Given the description of an element on the screen output the (x, y) to click on. 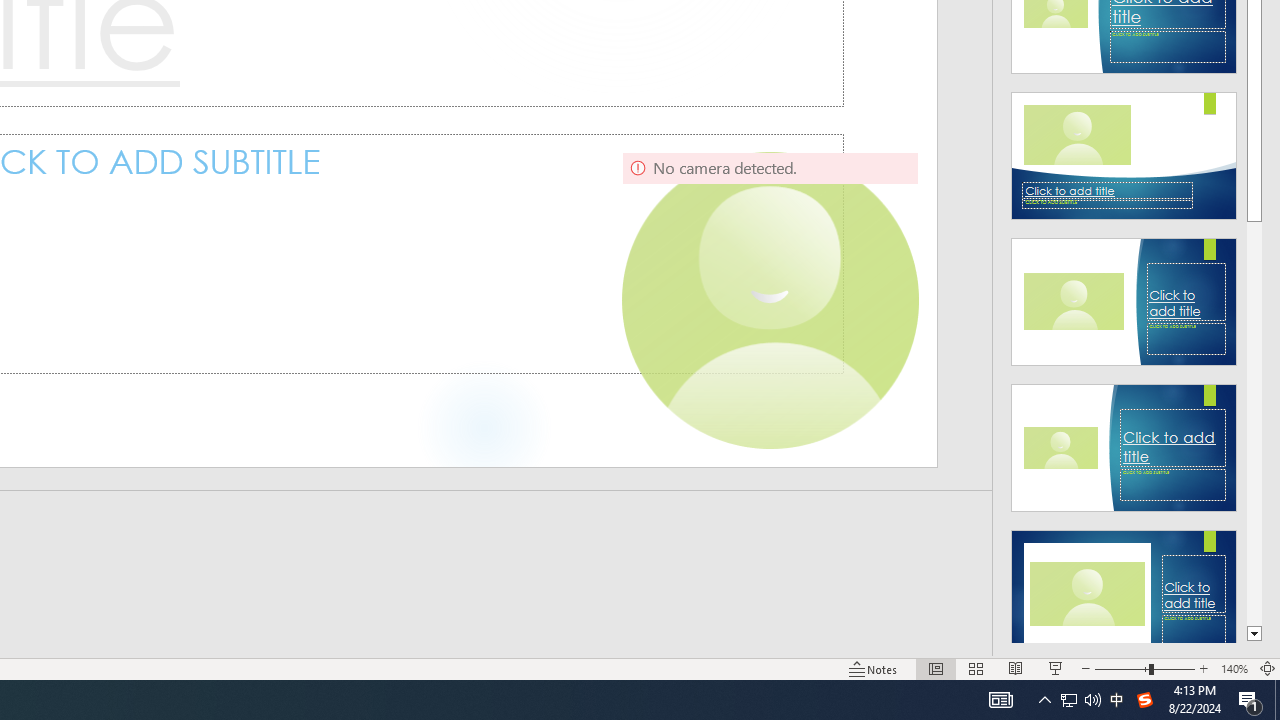
Design Idea (1124, 587)
Zoom 140% (1234, 668)
